Given the description of an element on the screen output the (x, y) to click on. 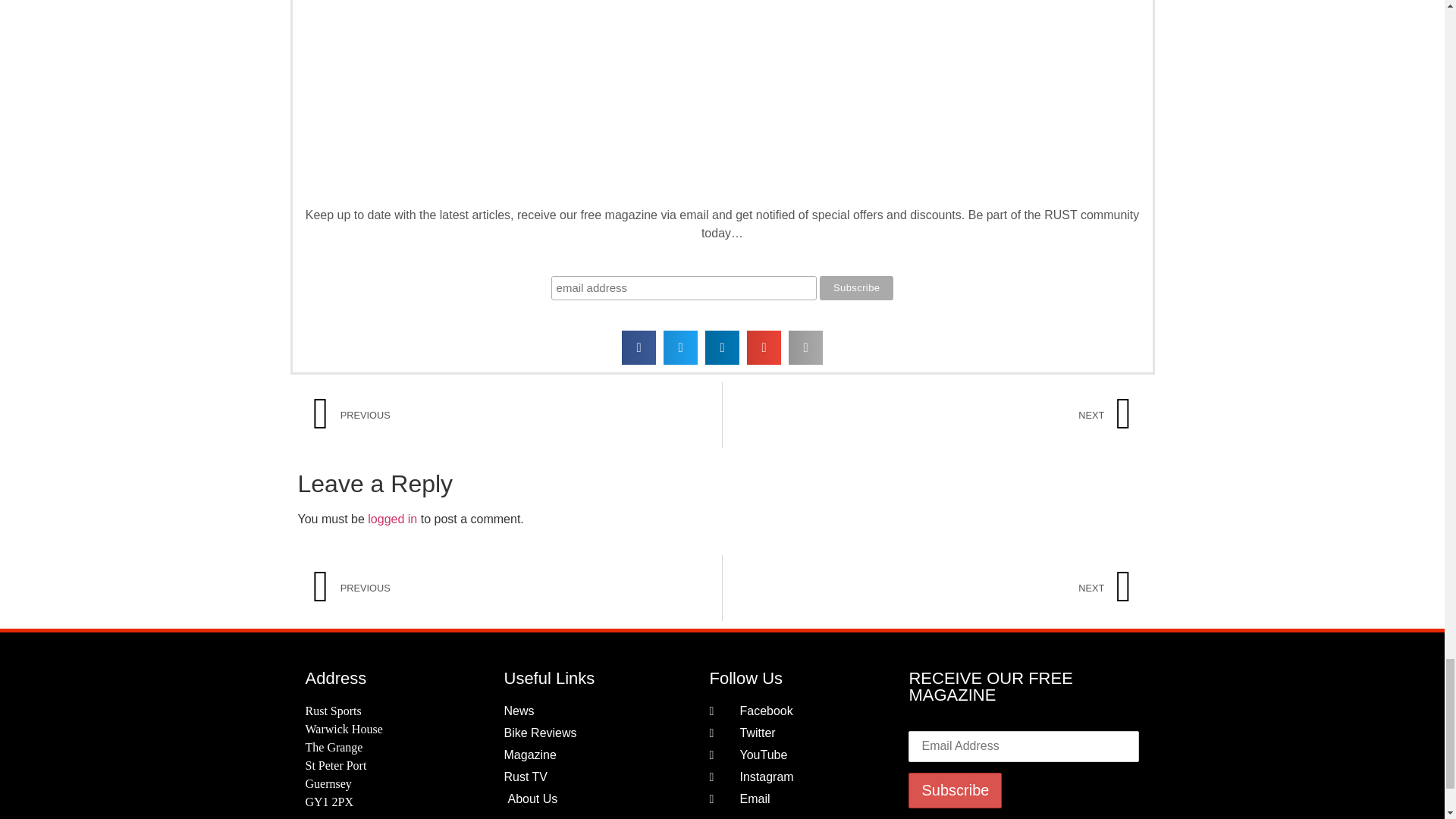
Subscribe (954, 790)
Subscribe (856, 288)
